Given the description of an element on the screen output the (x, y) to click on. 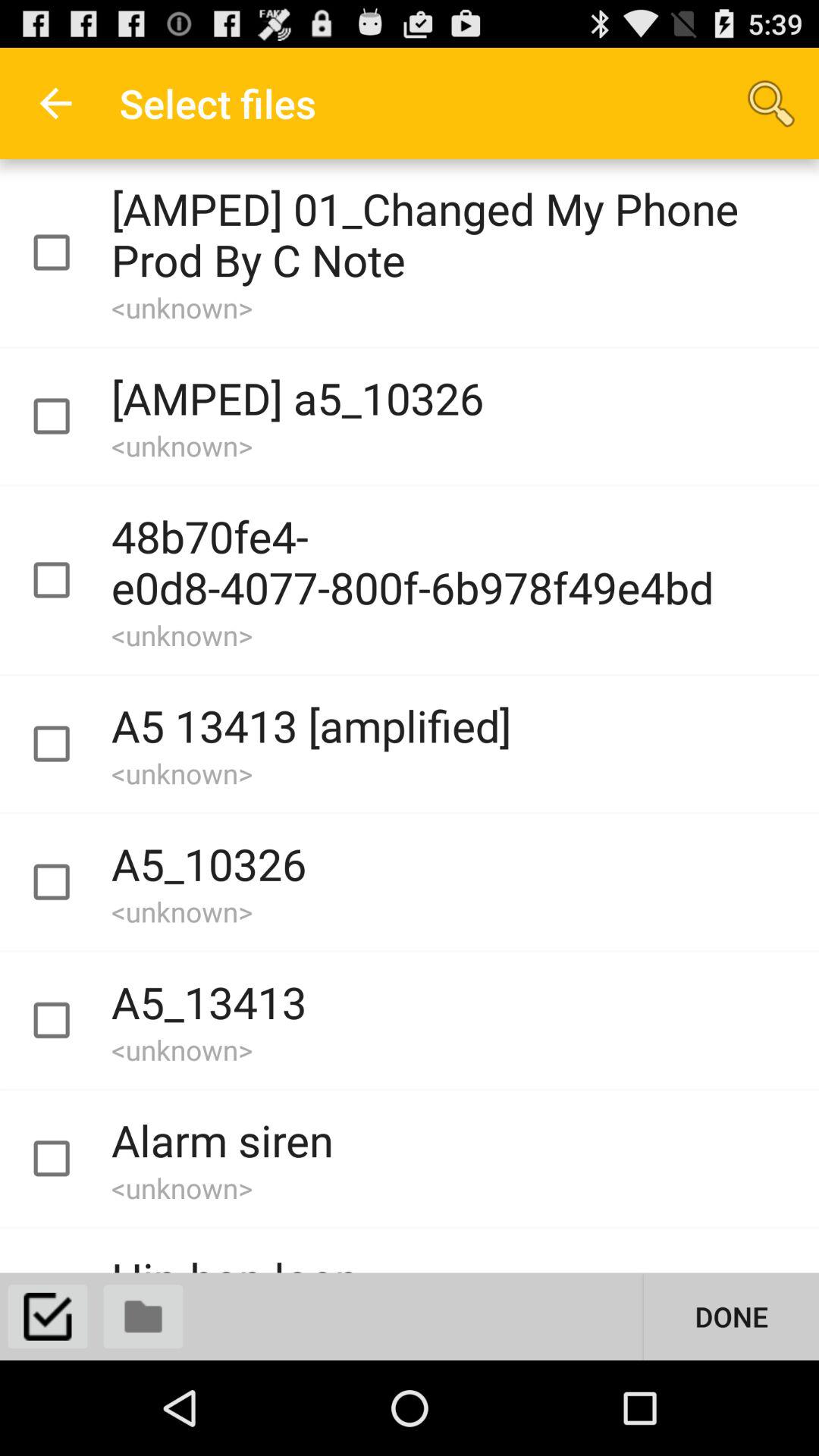
tap the icon at the top right corner (771, 103)
